Given the description of an element on the screen output the (x, y) to click on. 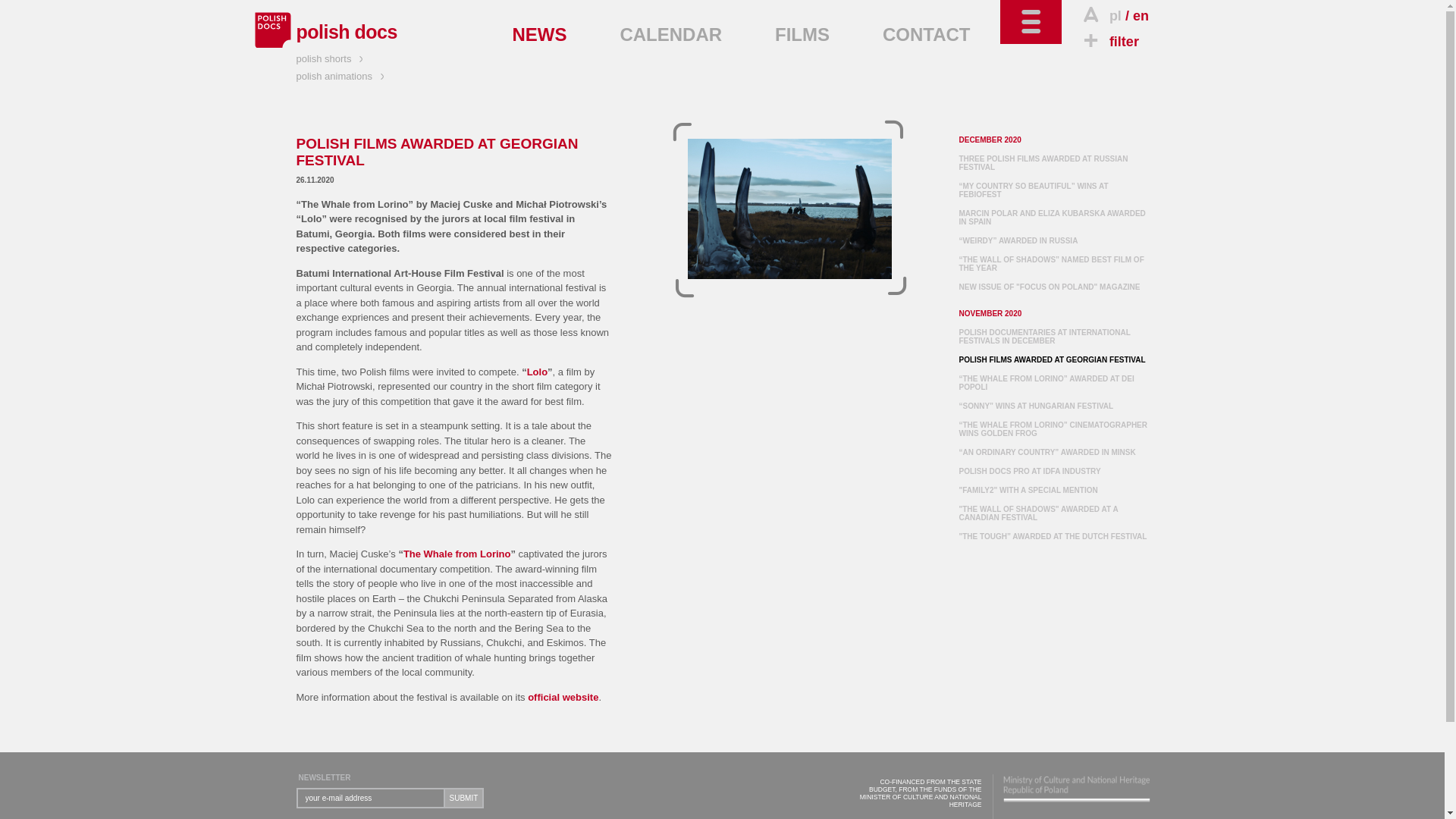
polish docs (345, 31)
english version (1140, 15)
The Whale from Lorino (457, 553)
CALENDAR (671, 34)
FILMS (801, 34)
CONTACT (926, 34)
Lolo (537, 371)
THREE POLISH FILMS AWARDED AT RUSSIAN FESTIVAL (1042, 162)
en (1140, 15)
polish animations (341, 75)
official website (562, 696)
filter (1109, 41)
MARCIN POLAR AND ELIZA KUBARSKA AWARDED IN SPAIN (1051, 217)
polish shorts (331, 58)
POLISH FILMS AWARDED AT GEORGIAN FESTIVAL (789, 208)
